Given the description of an element on the screen output the (x, y) to click on. 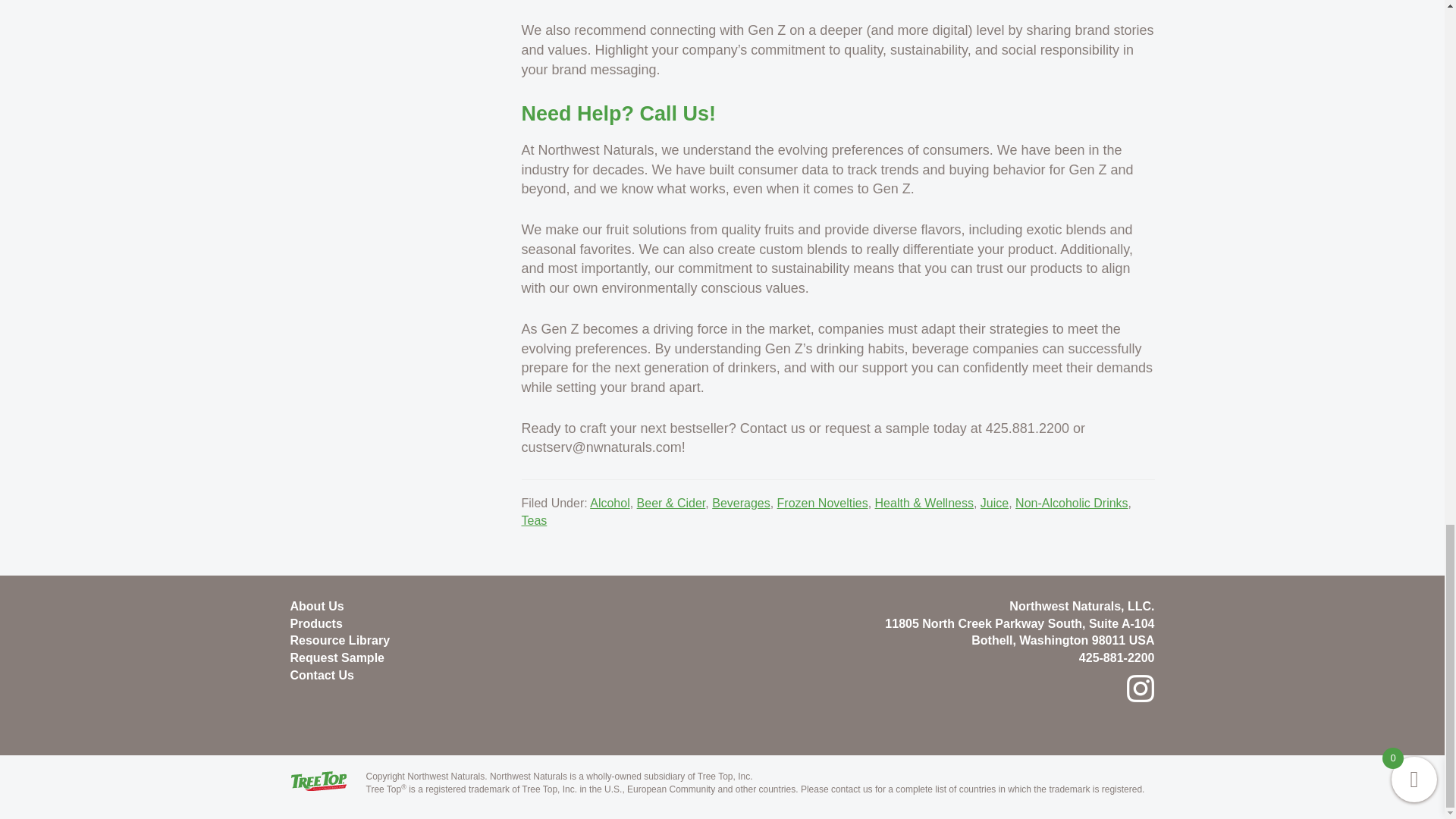
About Us (316, 605)
Request Sample (336, 657)
Teas (534, 520)
Contact Us (321, 675)
Resource Library (339, 640)
Beverages (740, 502)
Non-Alcoholic Drinks (1071, 502)
Products (315, 623)
Juice (994, 502)
Alcohol (608, 502)
Frozen Novelties (822, 502)
